Given the description of an element on the screen output the (x, y) to click on. 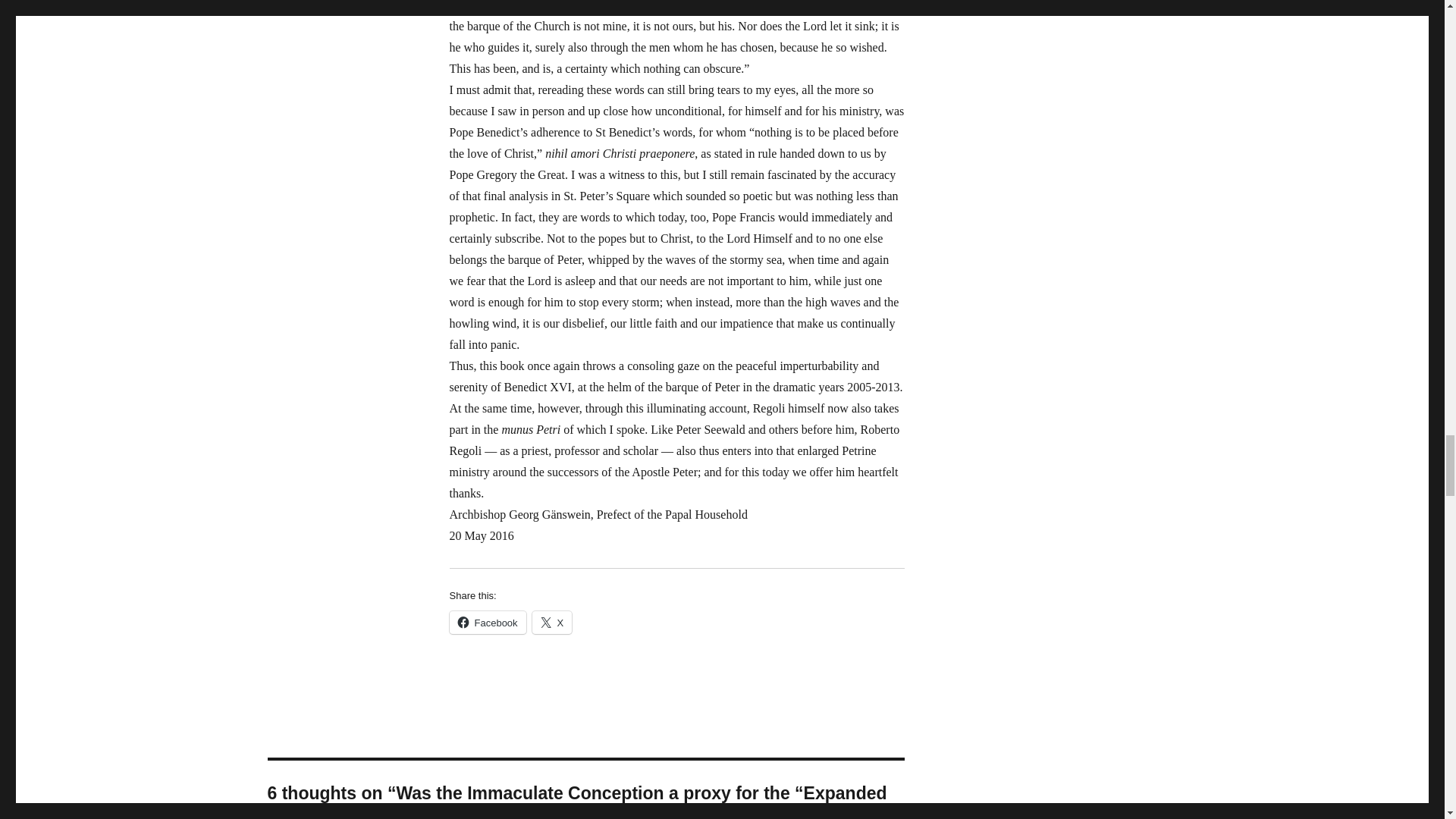
Click to share on X (552, 621)
Facebook (486, 621)
X (552, 621)
Click to share on Facebook (486, 621)
